Given the description of an element on the screen output the (x, y) to click on. 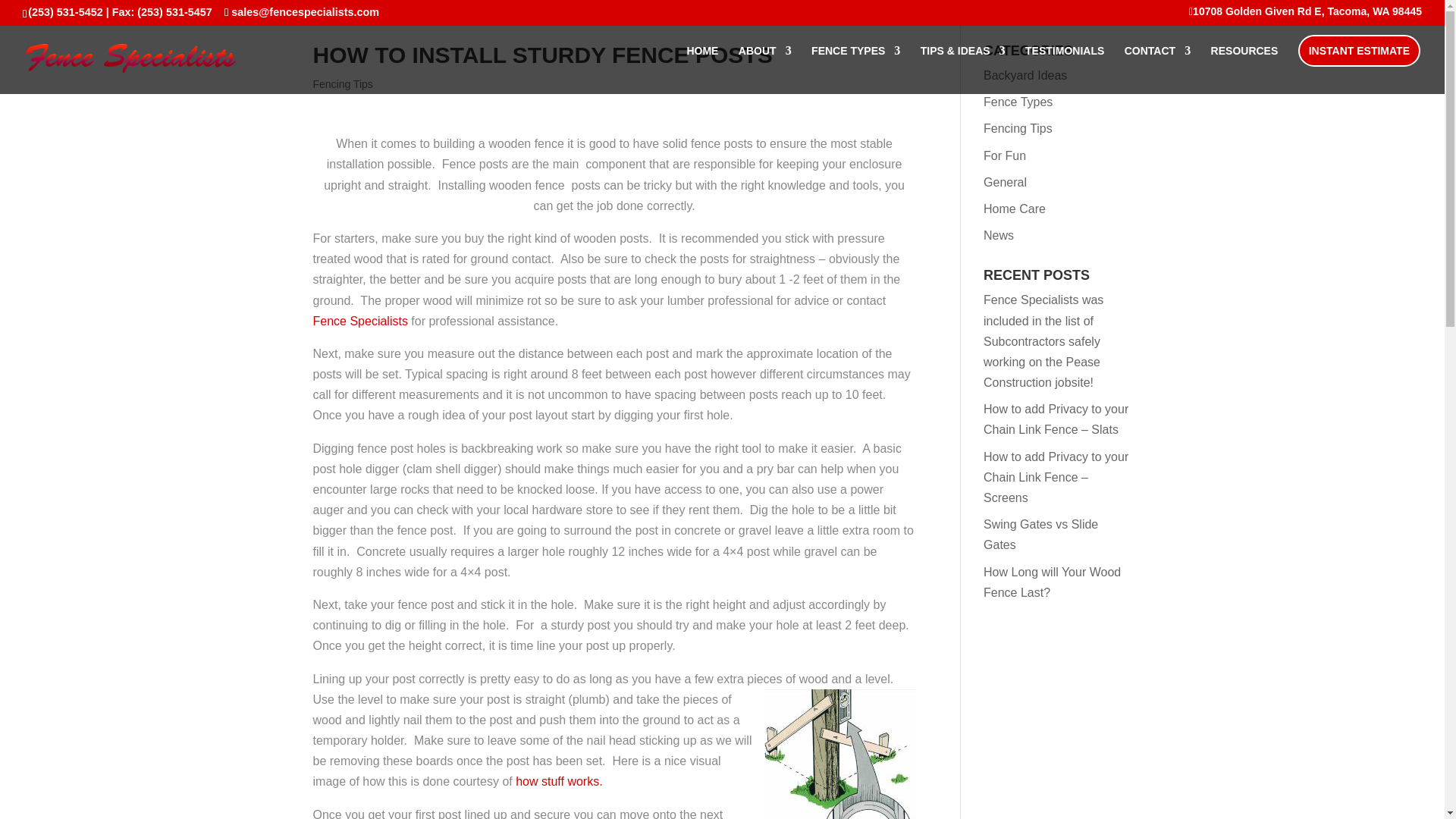
FENCE TYPES (854, 69)
how-to-repair-a-wood-fence-10 (839, 754)
TESTIMONIALS (1064, 69)
10708 Golden Given Rd E, Tacoma, WA 98445 (1305, 15)
INSTANT ESTIMATE (1359, 50)
CONTACT (1157, 69)
RESOURCES (1244, 69)
ABOUT (765, 69)
